Given the description of an element on the screen output the (x, y) to click on. 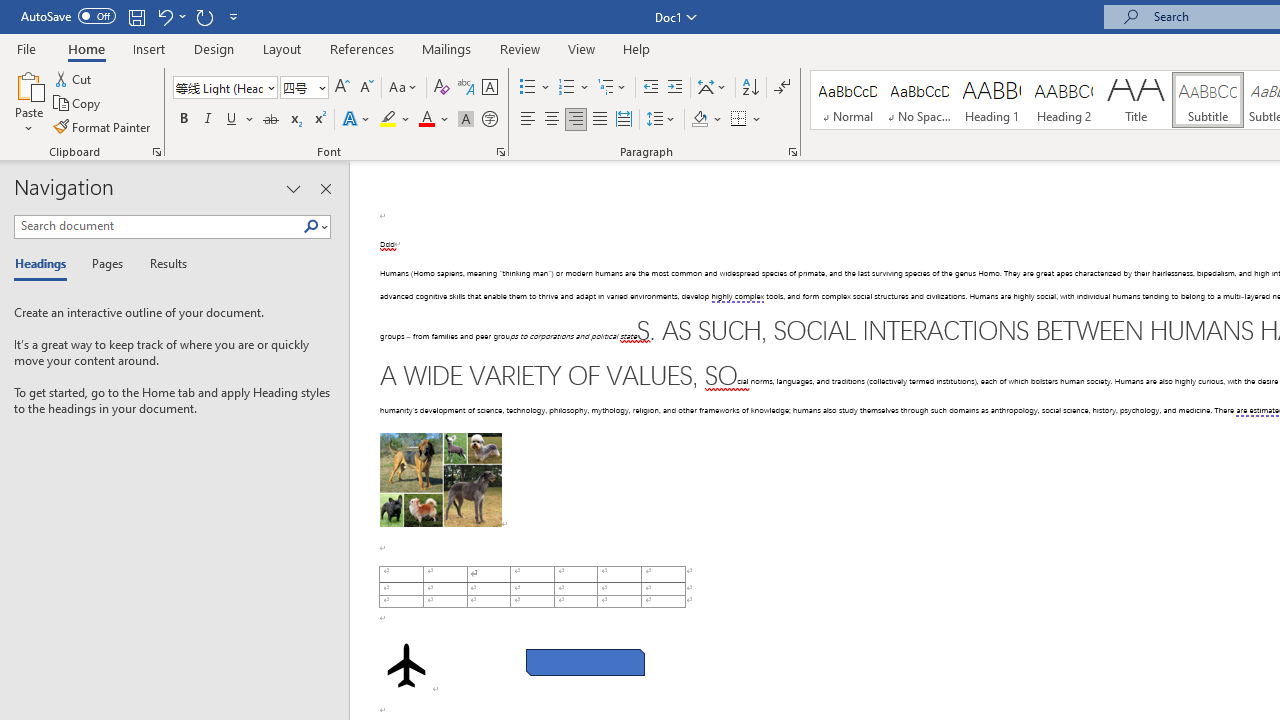
Task Pane Options (293, 188)
Office Clipboard... (156, 151)
Insert (149, 48)
Search document (157, 226)
Bullets (527, 87)
Class: NetUIImage (311, 226)
Phonetic Guide... (465, 87)
Sort... (750, 87)
Numbering (573, 87)
Grow Font (342, 87)
Paragraph... (792, 151)
Undo Paragraph Alignment (170, 15)
Pages (105, 264)
Rectangle: Diagonal Corners Snipped 2 (585, 662)
Paste (28, 102)
